Given the description of an element on the screen output the (x, y) to click on. 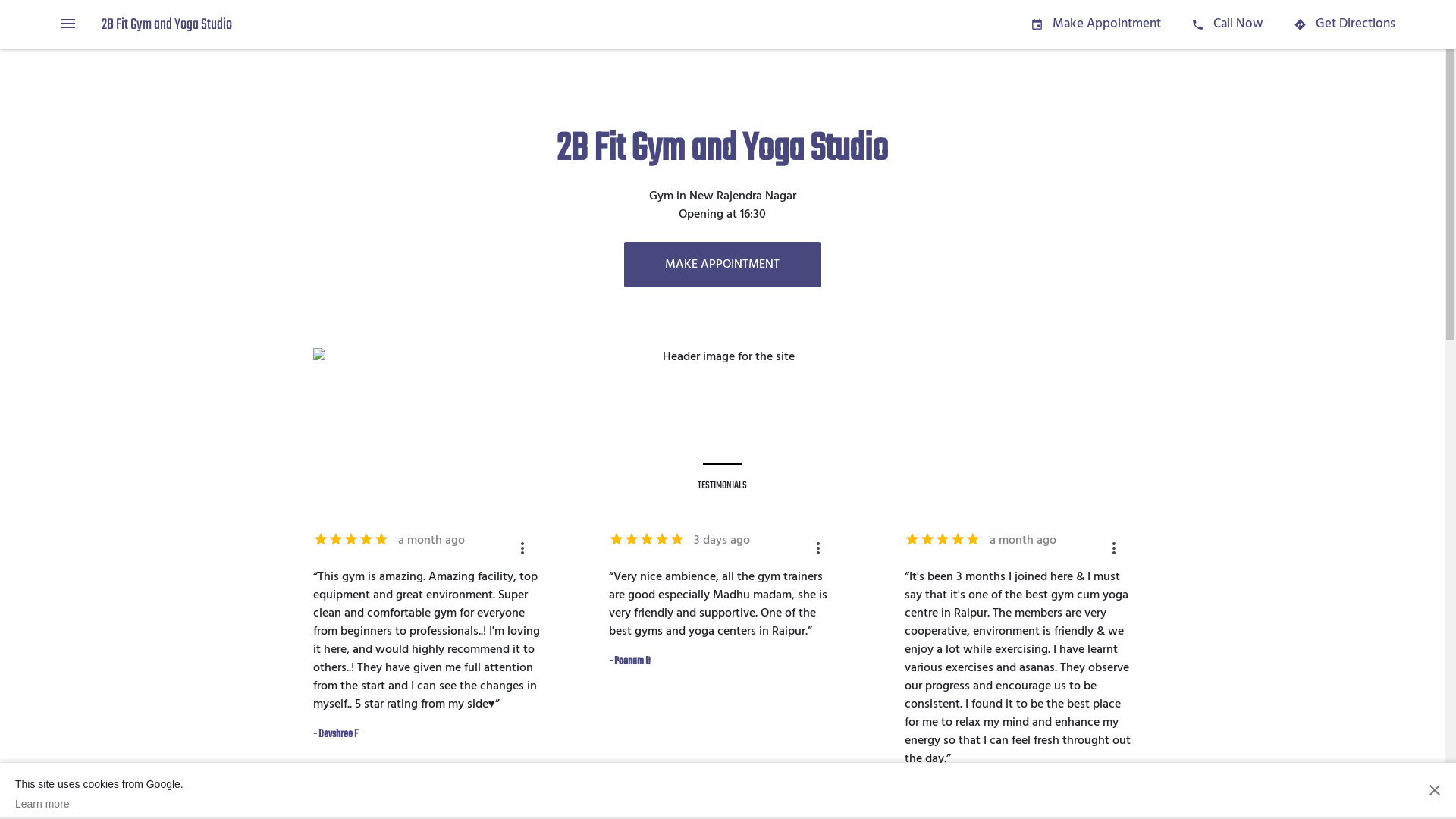
MAKE APPOINTMENT Element type: text (722, 264)
Learn more Element type: text (99, 803)
2B Fit Gym and Yoga Studio Element type: text (166, 23)
